Given the description of an element on the screen output the (x, y) to click on. 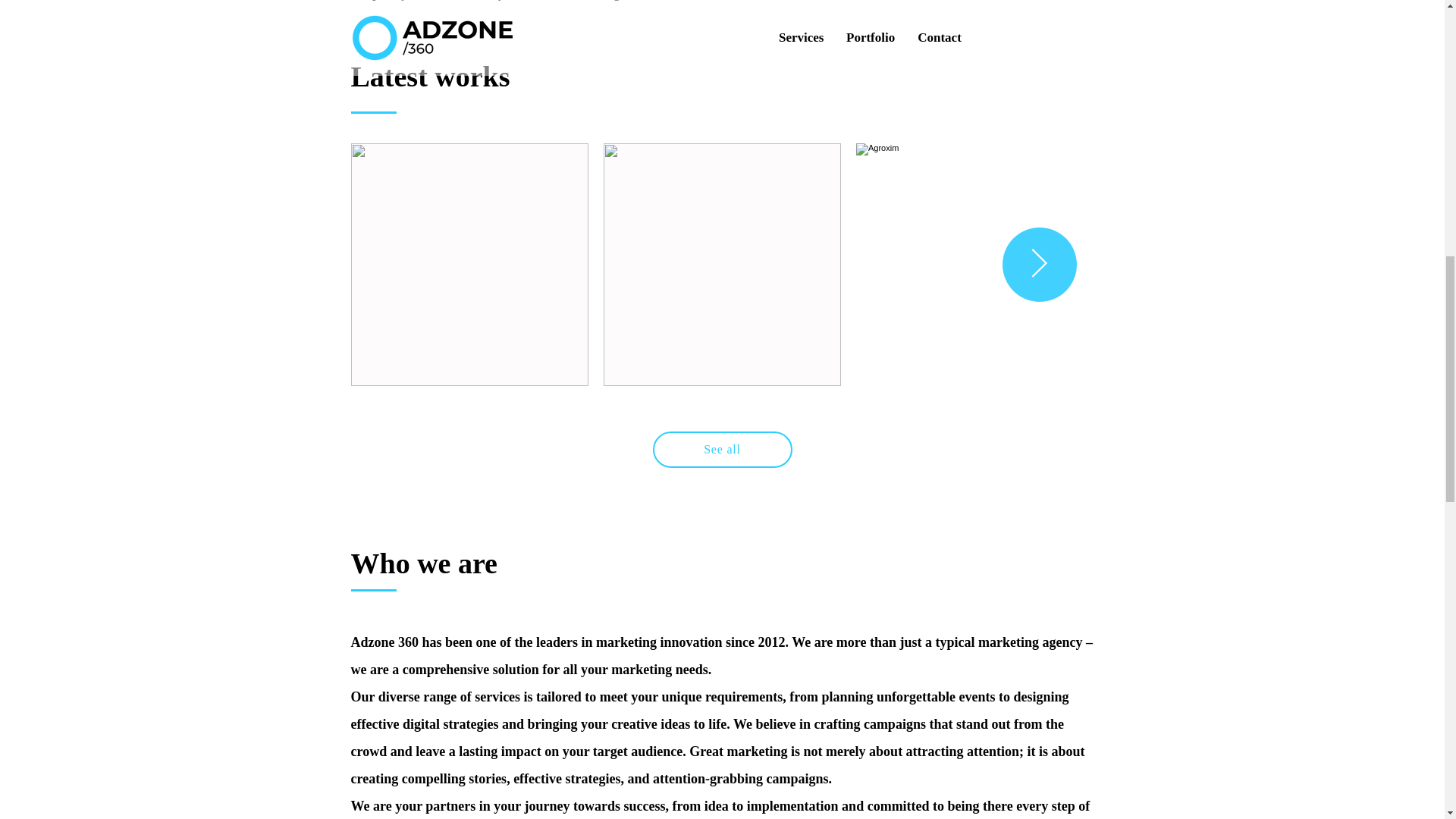
See all (722, 449)
